Given the description of an element on the screen output the (x, y) to click on. 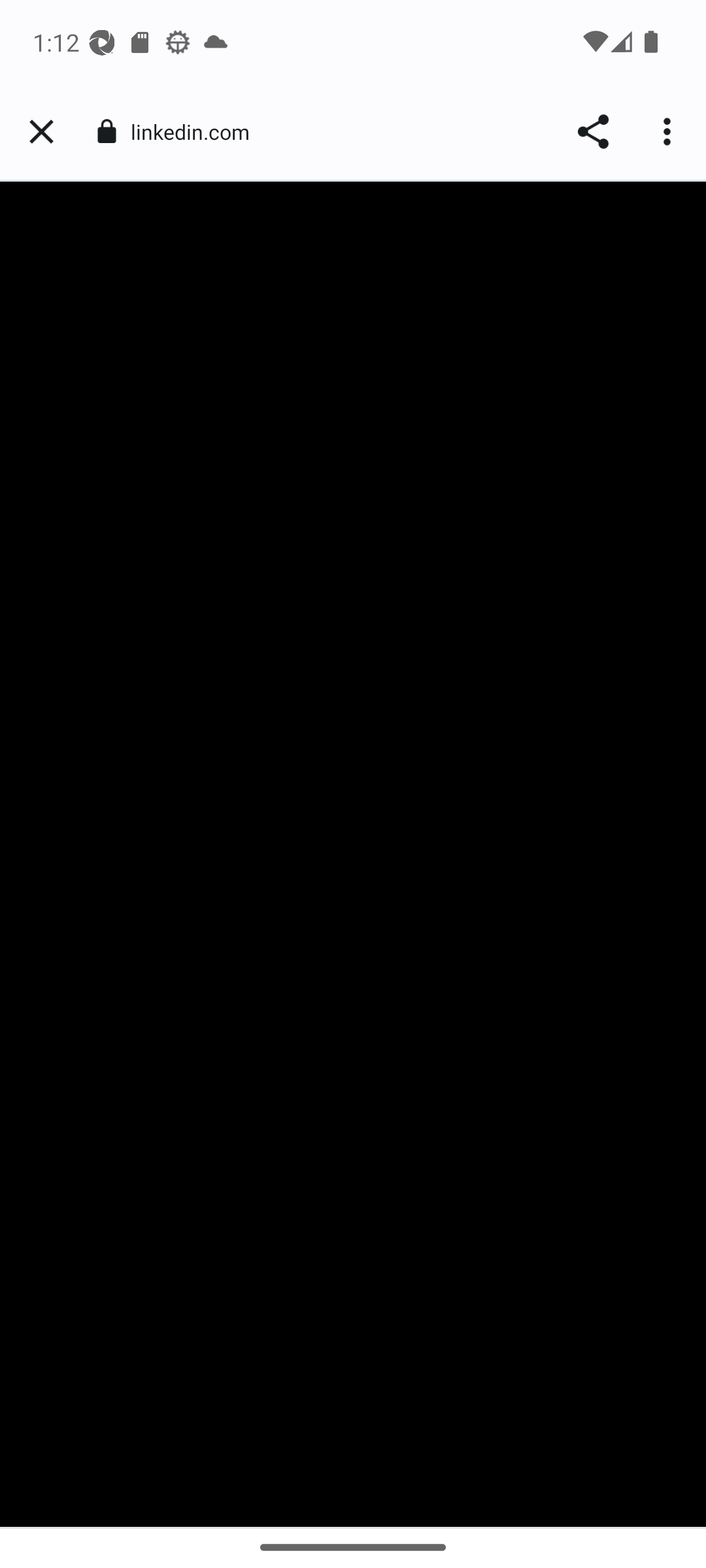
Close tab (41, 131)
Share (592, 131)
More options (669, 131)
Connection is secure (106, 131)
linkedin.com (196, 131)
